Given the description of an element on the screen output the (x, y) to click on. 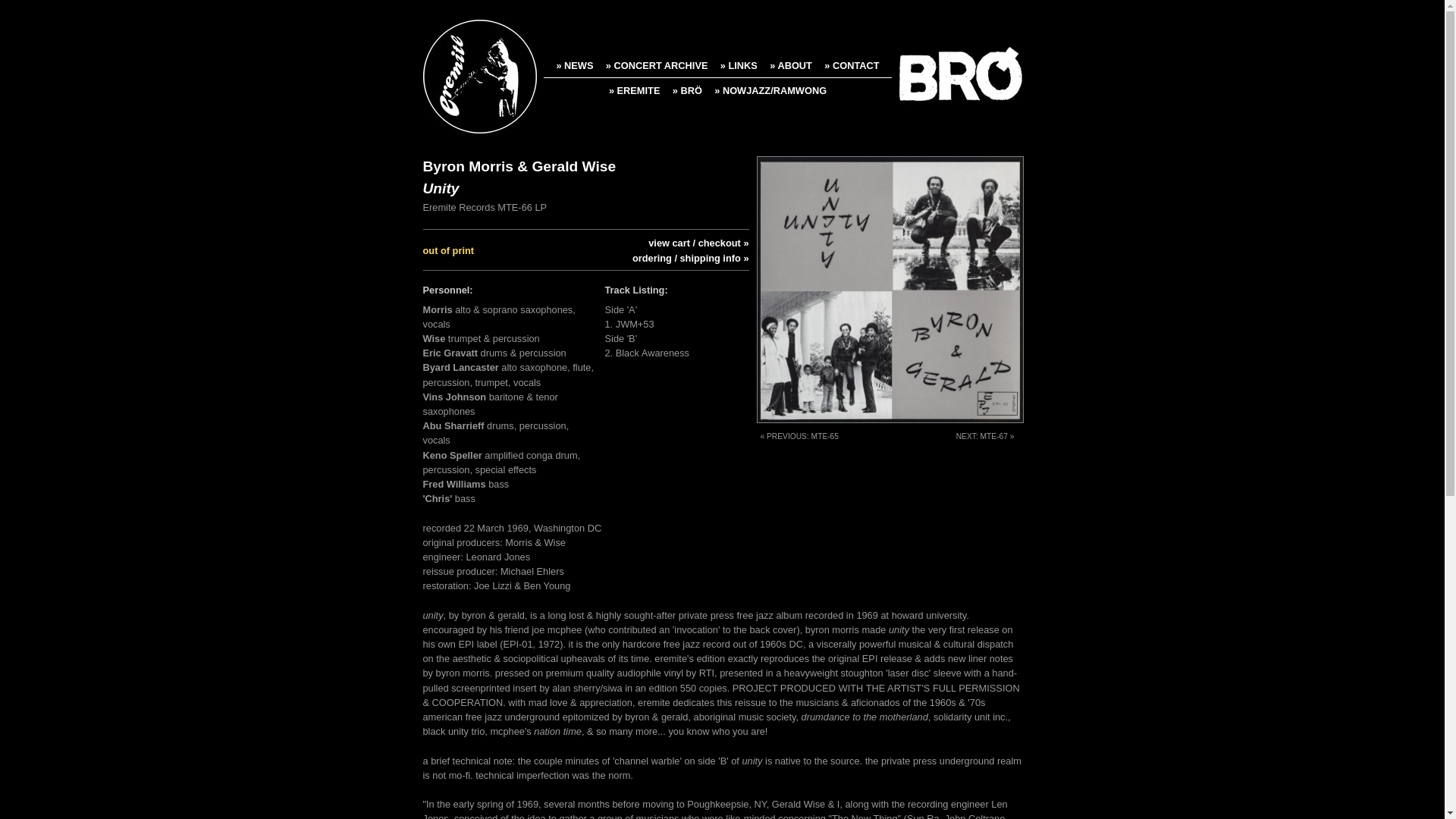
Eremite Records (459, 206)
